Given the description of an element on the screen output the (x, y) to click on. 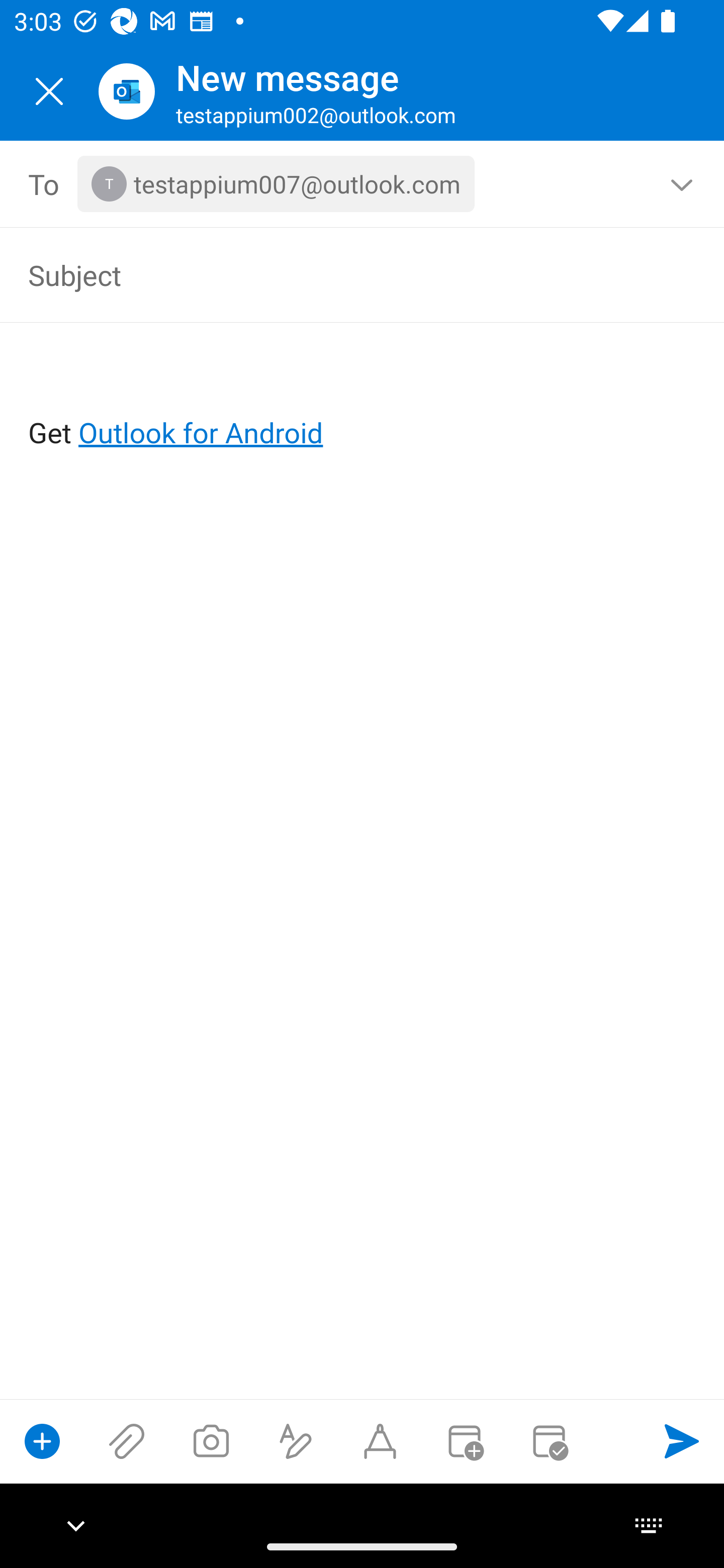
Close (49, 91)
To, 1 recipient <testappium007@outlook.com> (362, 184)
Subject (333, 274)


Get Outlook for Android (363, 400)
Show compose options (42, 1440)
Attach files (126, 1440)
Take a photo (210, 1440)
Show formatting options (295, 1440)
Start Ink compose (380, 1440)
Convert to event (464, 1440)
Send availability (548, 1440)
Send (681, 1440)
